Given the description of an element on the screen output the (x, y) to click on. 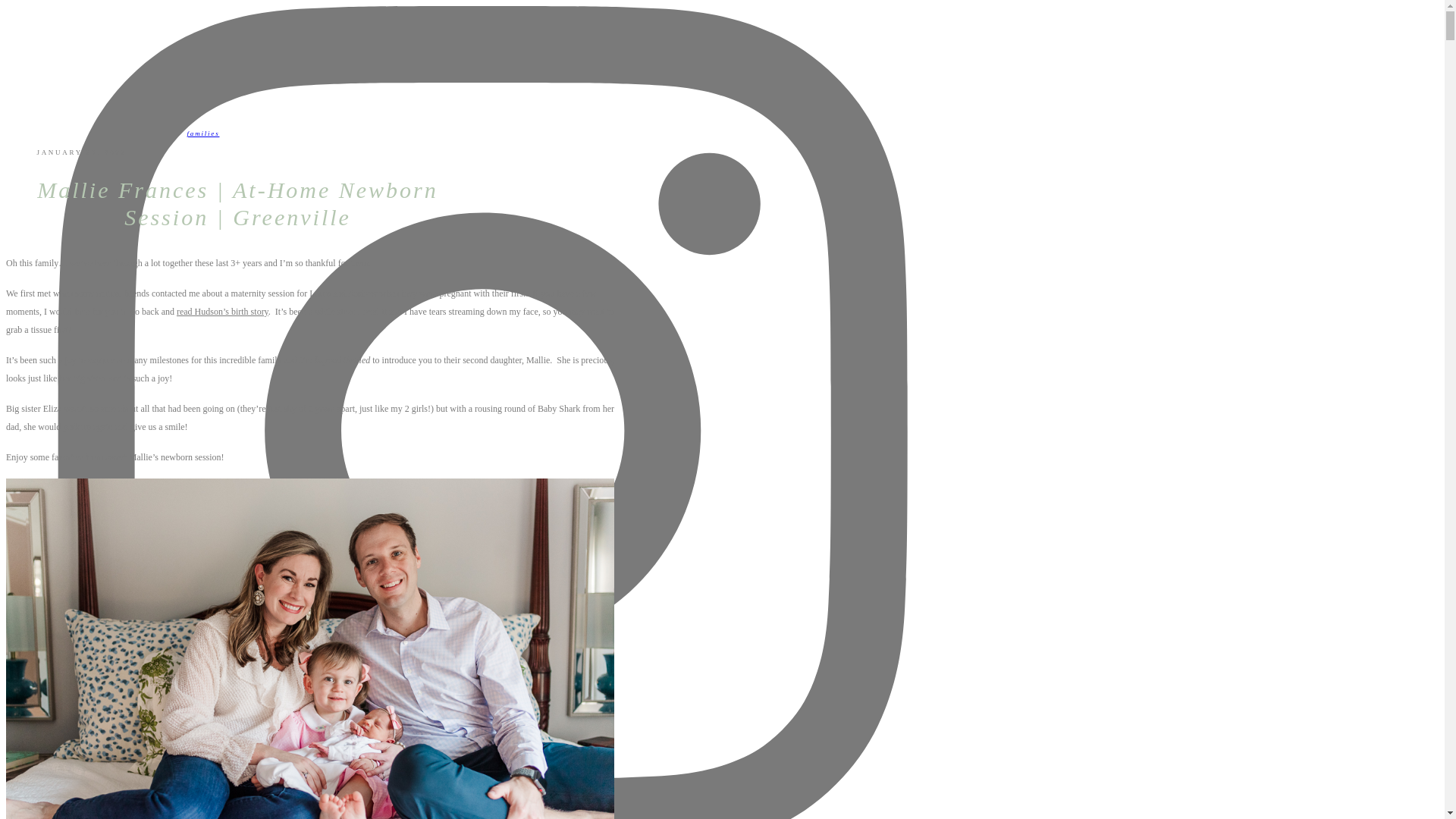
families (203, 133)
